Given the description of an element on the screen output the (x, y) to click on. 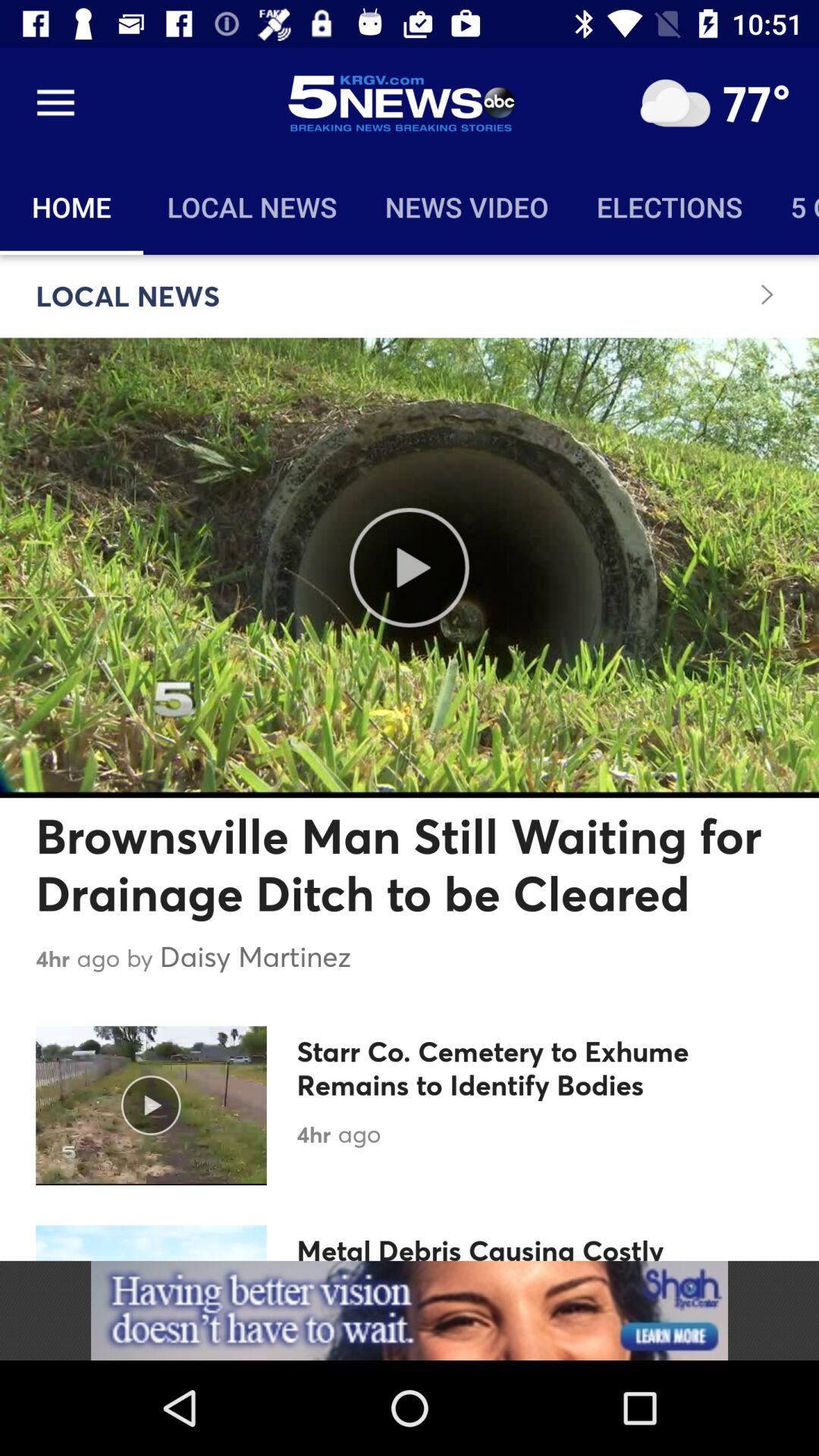
clear (674, 103)
